Given the description of an element on the screen output the (x, y) to click on. 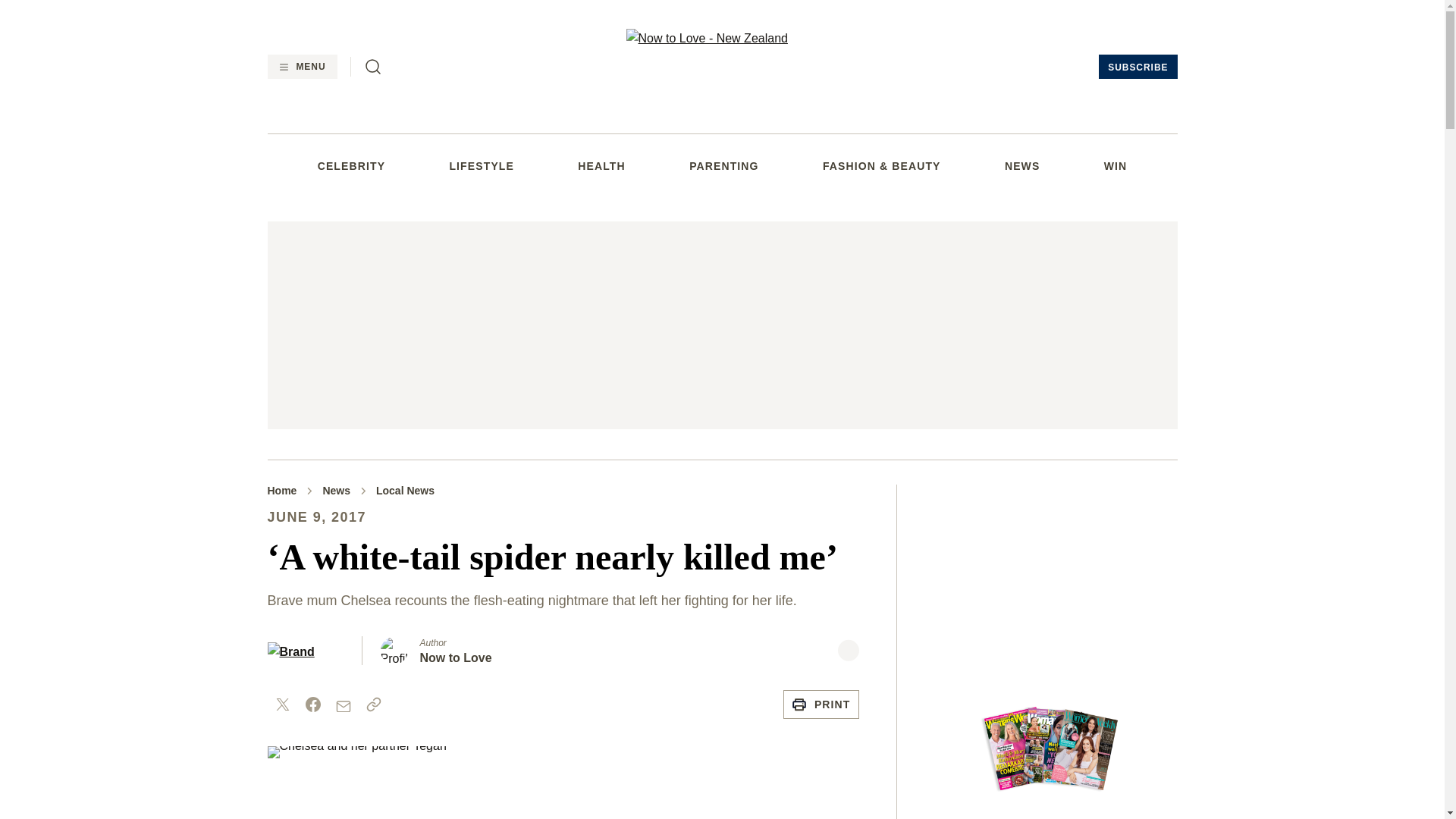
HEALTH (601, 165)
WIN (1114, 165)
NEWS (1021, 165)
SUBSCRIBE (1137, 66)
PARENTING (723, 165)
CELEBRITY (351, 165)
MENU (301, 66)
LIFESTYLE (480, 165)
